Given the description of an element on the screen output the (x, y) to click on. 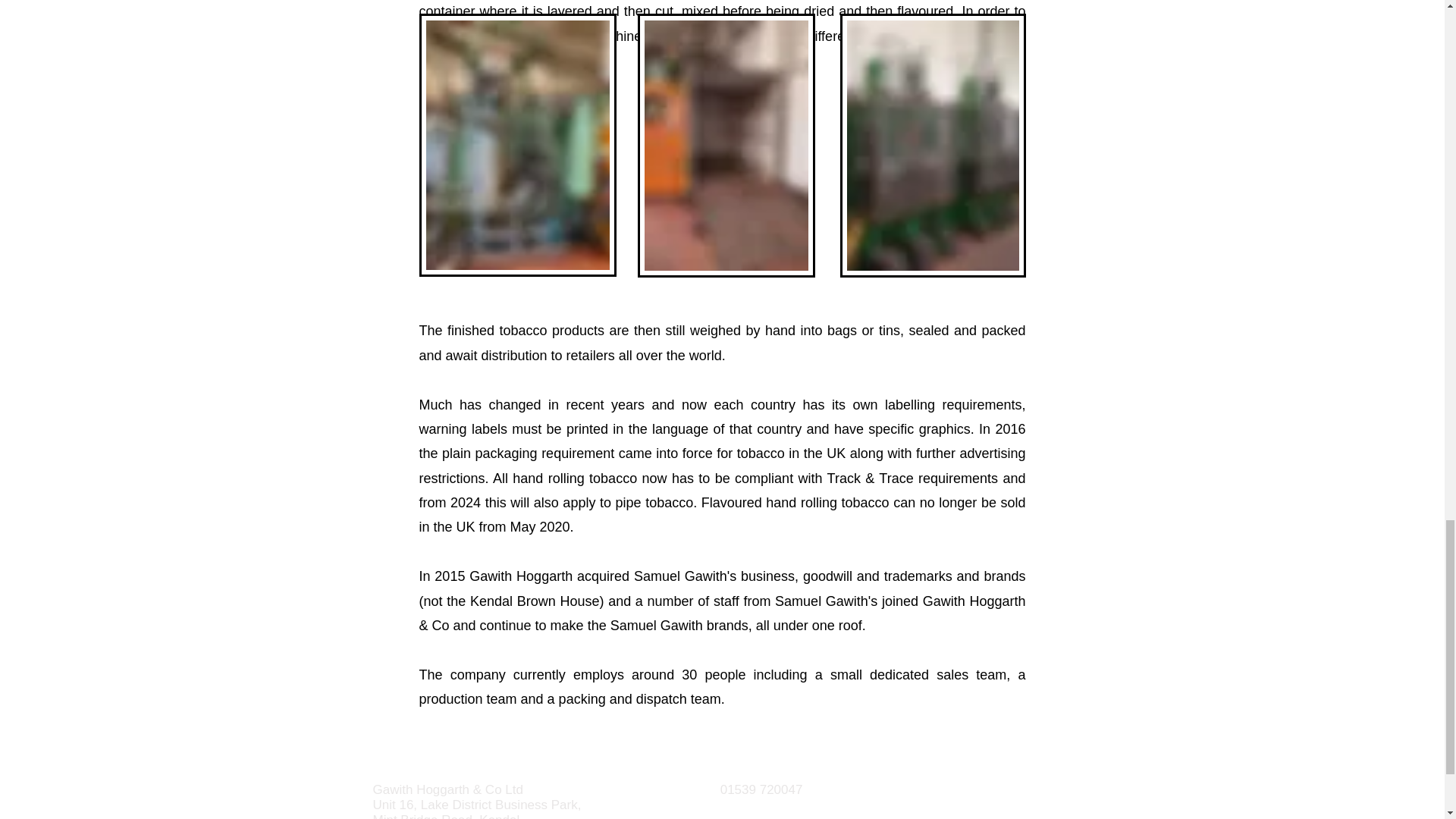
vaccum and steamer for tobacco (725, 145)
cold press for tobacco (933, 145)
vaccum and steamer for tobacco (517, 144)
